Given the description of an element on the screen output the (x, y) to click on. 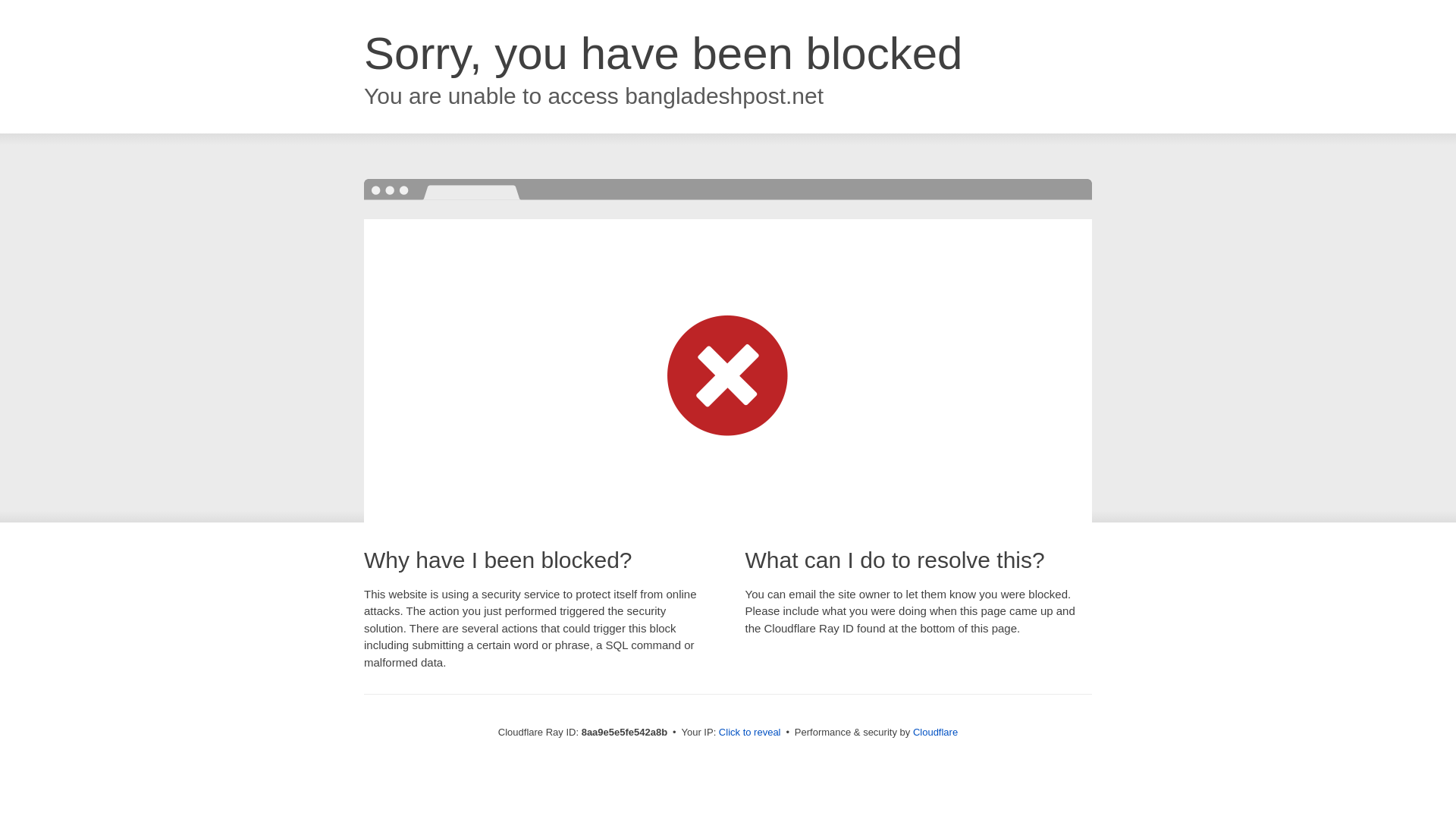
Click to reveal (749, 732)
Cloudflare (935, 731)
